Given the description of an element on the screen output the (x, y) to click on. 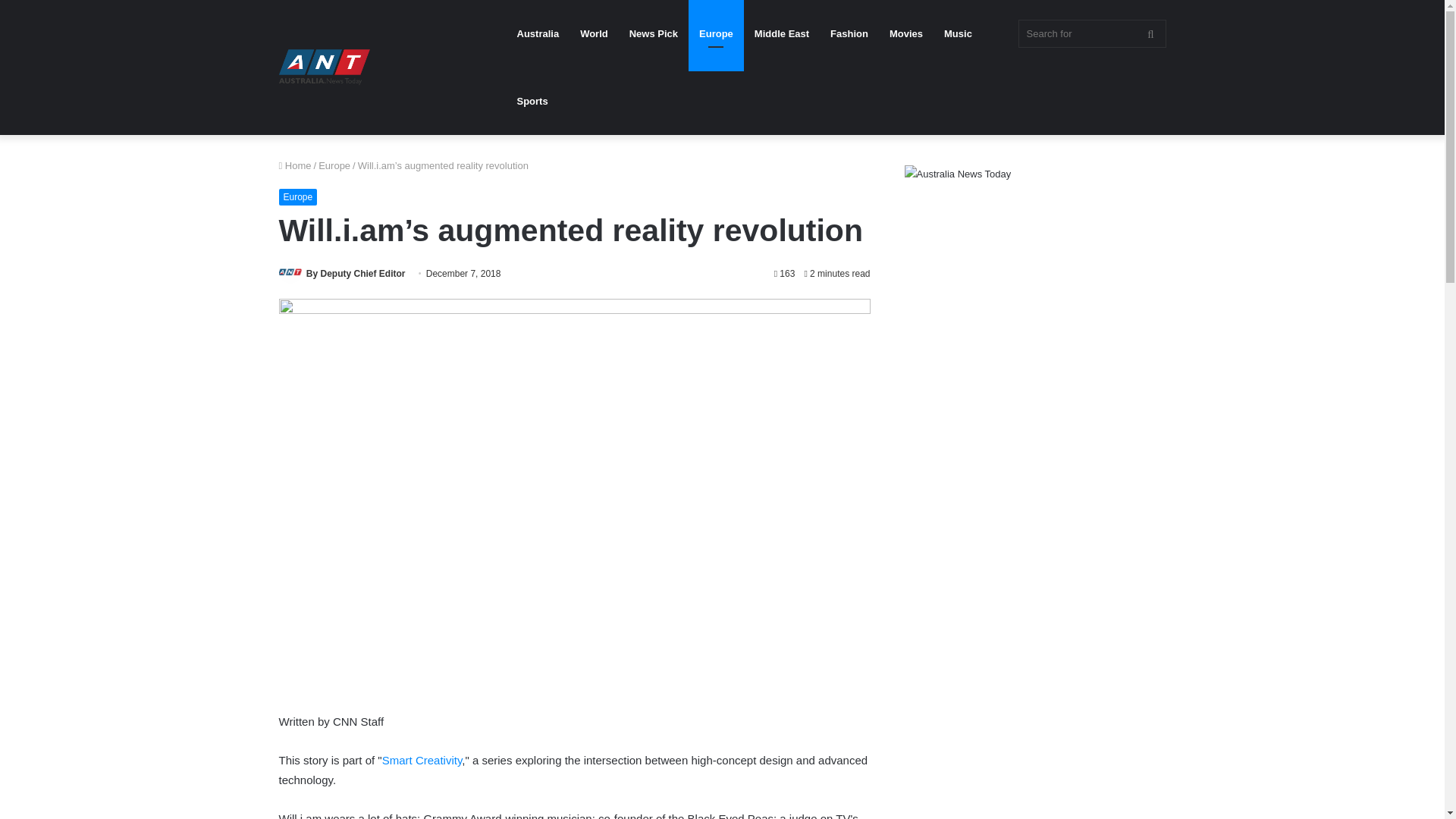
News Pick (653, 33)
Home (295, 165)
Smart Creativity (422, 759)
Europe (334, 165)
Middle East (781, 33)
By Deputy Chief Editor (355, 273)
By Deputy Chief Editor (355, 273)
Search for (1091, 33)
Europe (298, 197)
Australia News Today (324, 66)
Australia (538, 33)
